Given the description of an element on the screen output the (x, y) to click on. 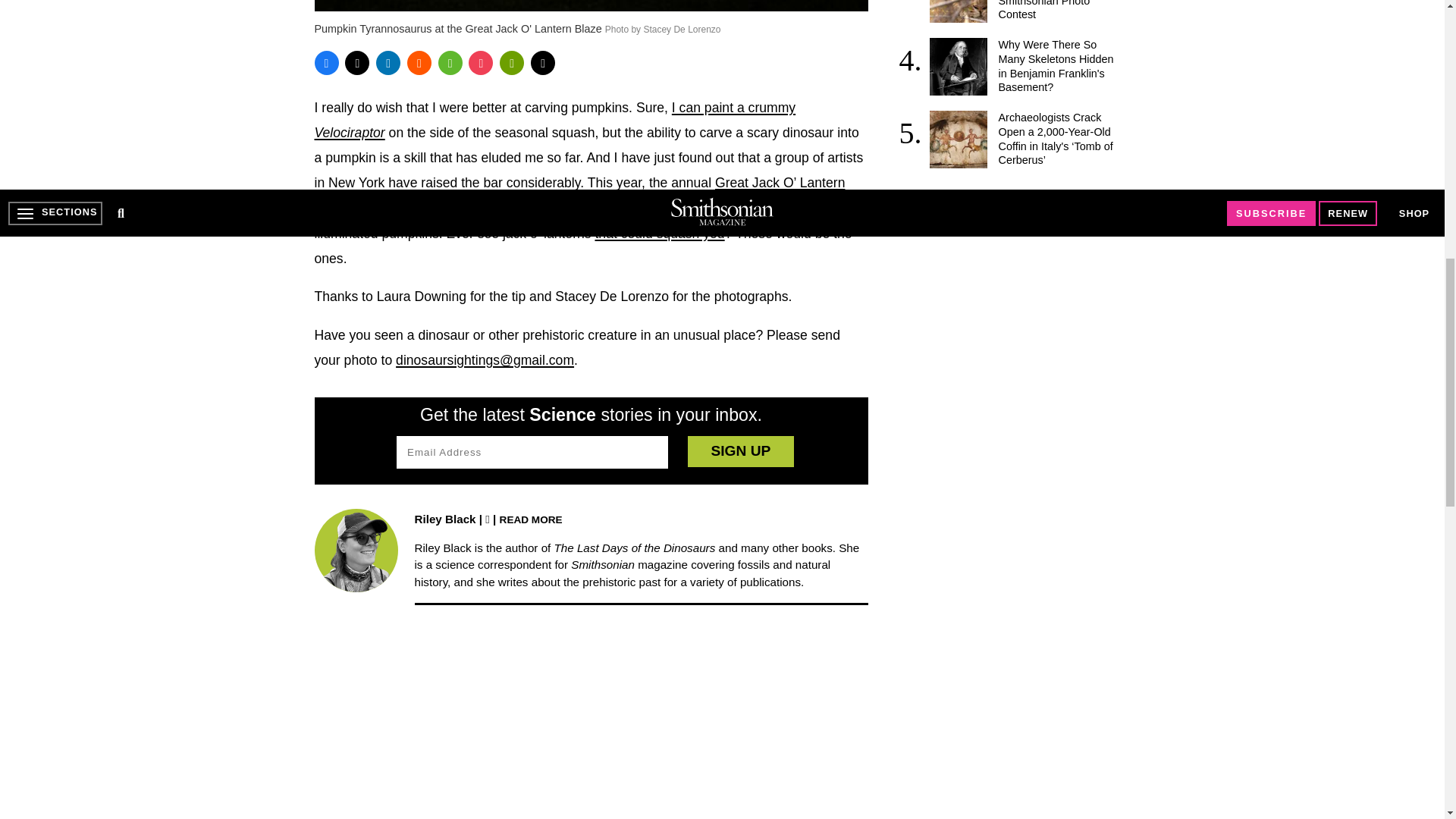
Sign Up (740, 450)
Facebook (325, 62)
Email (542, 62)
Read more from this author (530, 518)
Pocket (480, 62)
Reddit (418, 62)
Dinosaur Tracking Scariest Pumpkin Ever (554, 119)
LinkedIn (387, 62)
WhatsApp (450, 62)
Print (511, 62)
Jack O' Lantern Blaze (579, 195)
Twitter (357, 62)
Dinosaur Sightings e-mail (484, 359)
